Given the description of an element on the screen output the (x, y) to click on. 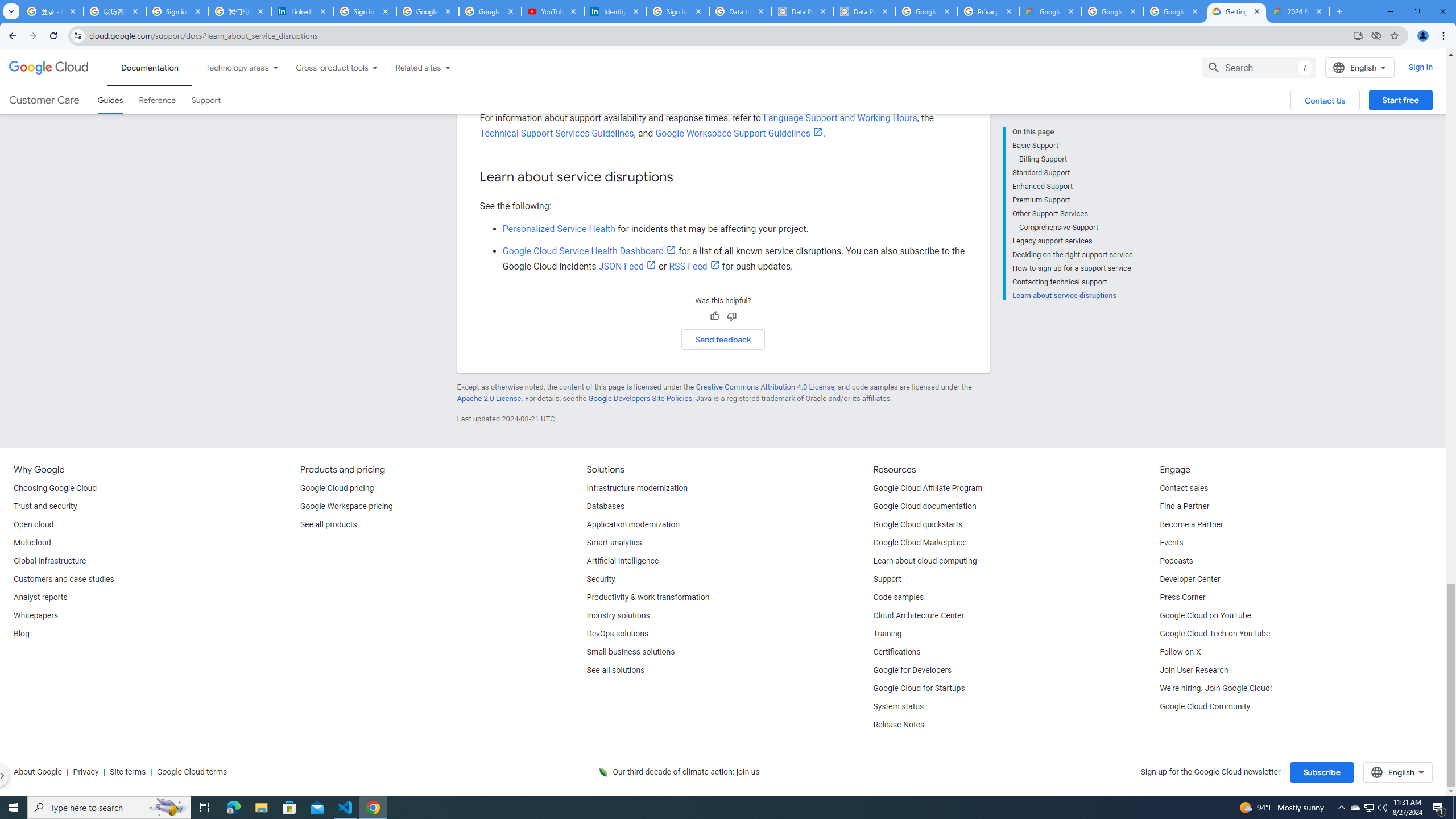
Customer Care (44, 100)
See all solutions (615, 670)
Sign in - Google Accounts (177, 11)
Small business solutions (630, 651)
Guides, selected (109, 99)
